Given the description of an element on the screen output the (x, y) to click on. 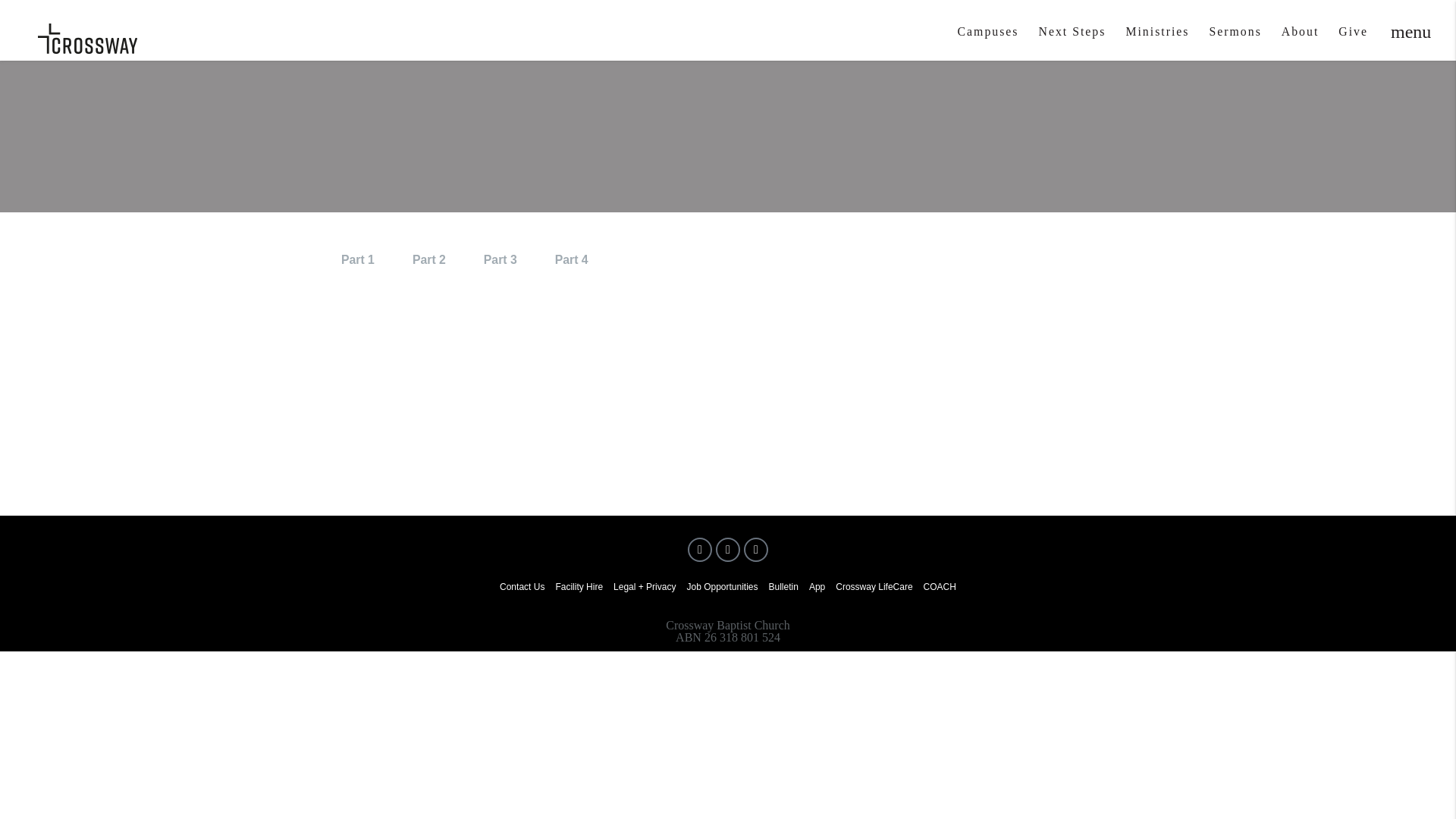
Ministries (1157, 37)
Sermons (1234, 37)
Next Steps (1072, 37)
About (1299, 37)
Campuses (988, 37)
